Given the description of an element on the screen output the (x, y) to click on. 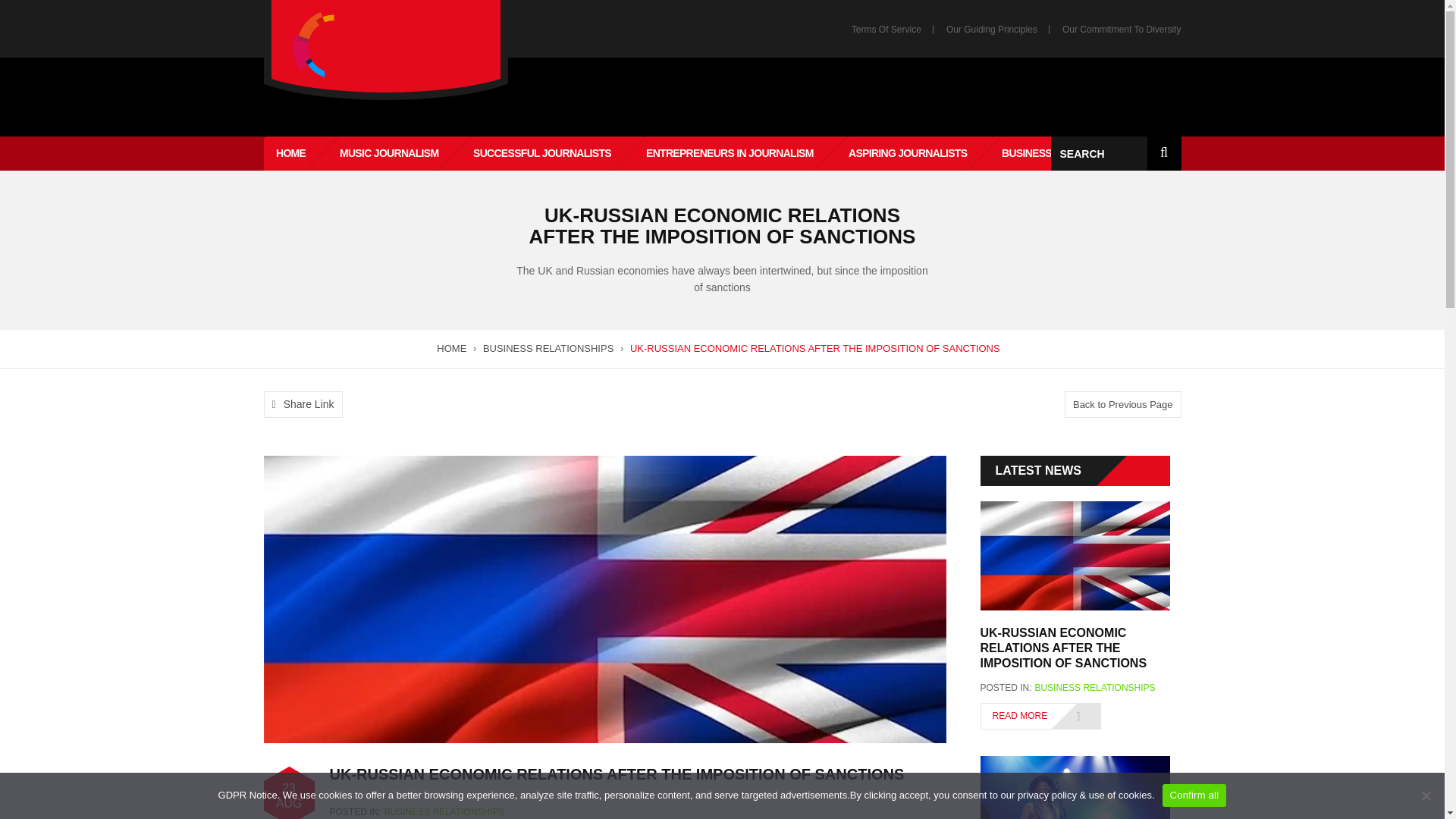
BUSINESS RELATIONSHIPS (443, 811)
ENTREPRENEURS IN JOURNALISM (712, 153)
HOME (267, 153)
BUSINESS RELATIONSHIPS (547, 348)
BUSINESS RELATIONSHIPS (1051, 153)
Terms Of Service (886, 29)
Share Link (302, 404)
HOME (450, 348)
BUSINESS RELATIONSHIPS (1093, 687)
